Given the description of an element on the screen output the (x, y) to click on. 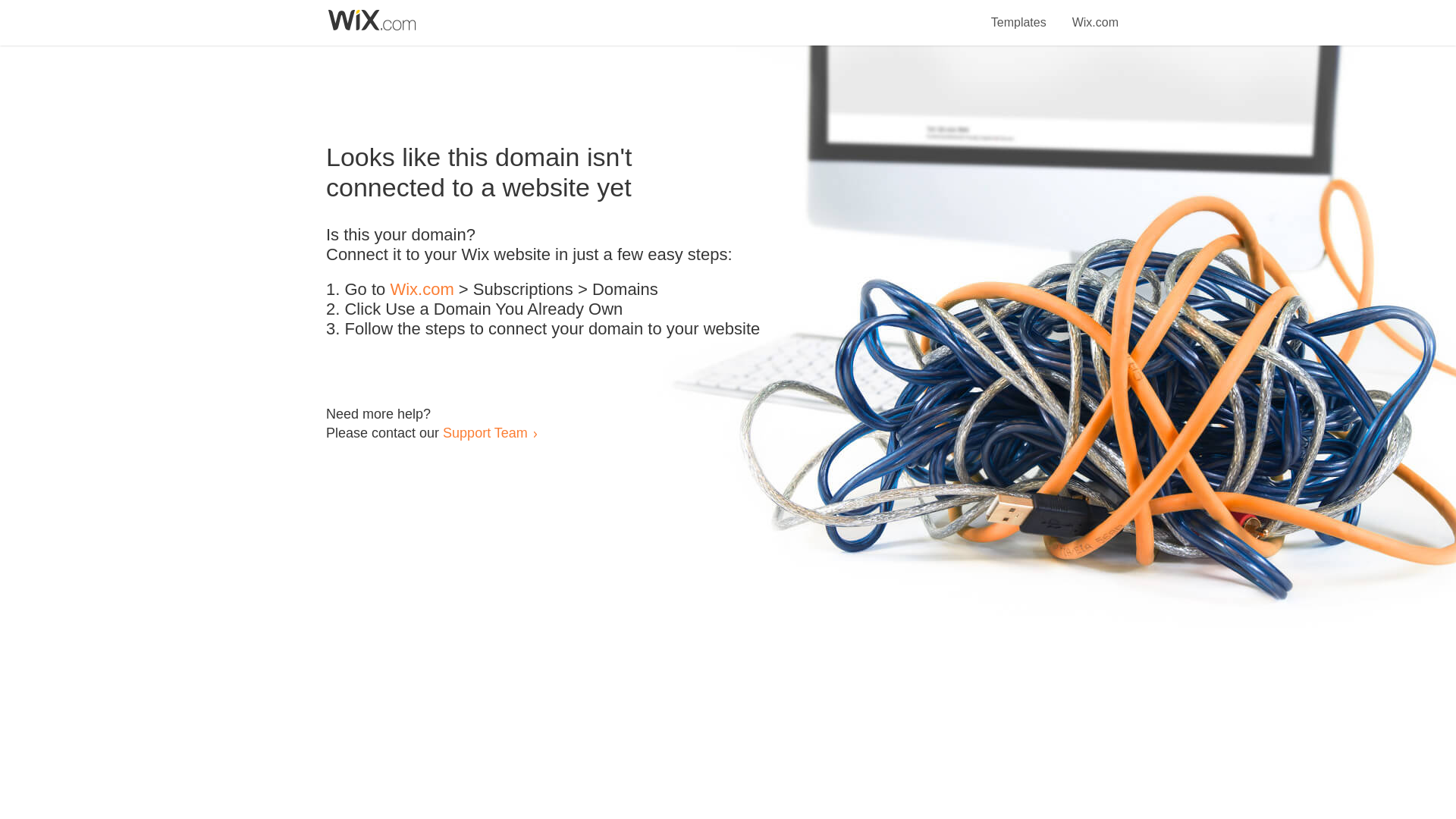
Wix.com (421, 289)
Wix.com (1095, 14)
Templates (1018, 14)
Support Team (484, 432)
